Given the description of an element on the screen output the (x, y) to click on. 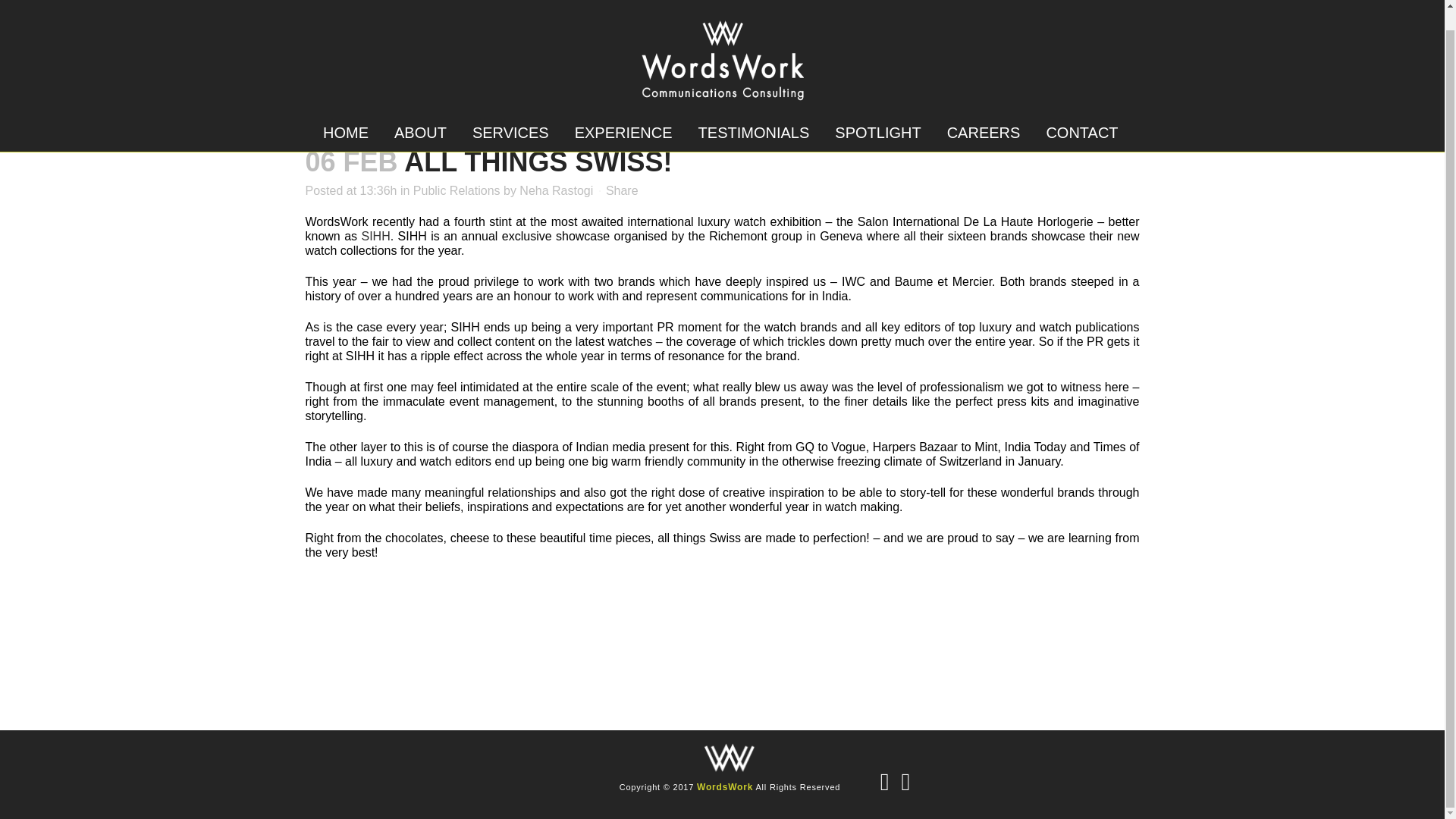
SPOTLIGHT (877, 112)
WordsWork (724, 787)
SERVICES (511, 112)
EXPERIENCE (623, 112)
HOME (345, 112)
CAREERS (983, 112)
SIHH (375, 236)
Share (622, 190)
ABOUT (420, 112)
Public Relations (456, 190)
Neha Rastogi (555, 190)
TESTIMONIALS (753, 112)
CONTACT (1081, 112)
